Given the description of an element on the screen output the (x, y) to click on. 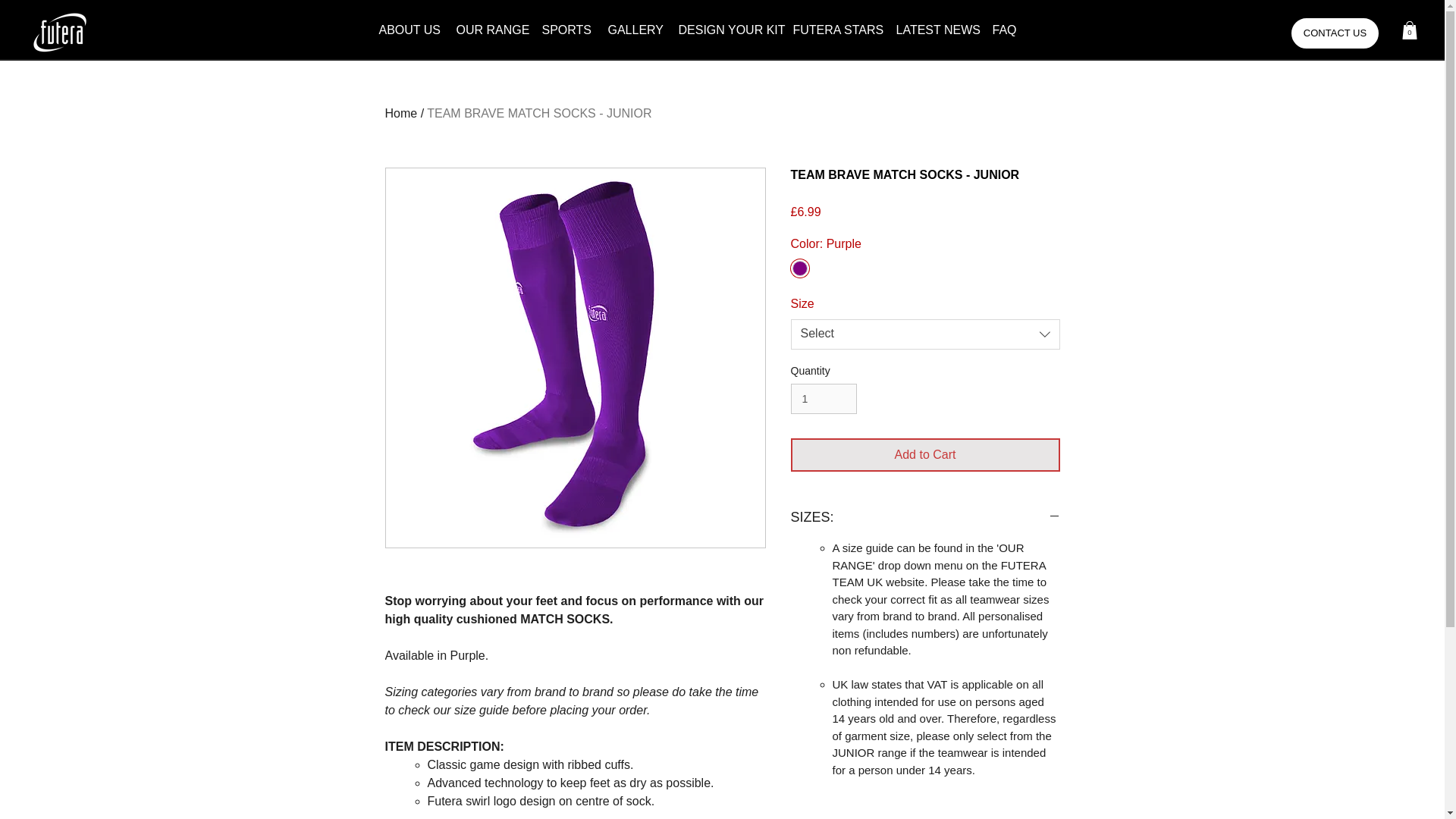
SPORTS (563, 30)
Select (924, 334)
Add to Cart (924, 454)
Home (401, 113)
ABOUT US (405, 30)
1 (823, 399)
CONTACT US (1334, 33)
GALLERY (630, 30)
LATEST NEWS (931, 30)
FAQ (1003, 30)
DESIGN YOUR KIT (723, 30)
TEAM BRAVE MATCH SOCKS - JUNIOR (538, 113)
SIZES: (924, 517)
OUR RANGE (486, 30)
FUTERA STARS (831, 30)
